Given the description of an element on the screen output the (x, y) to click on. 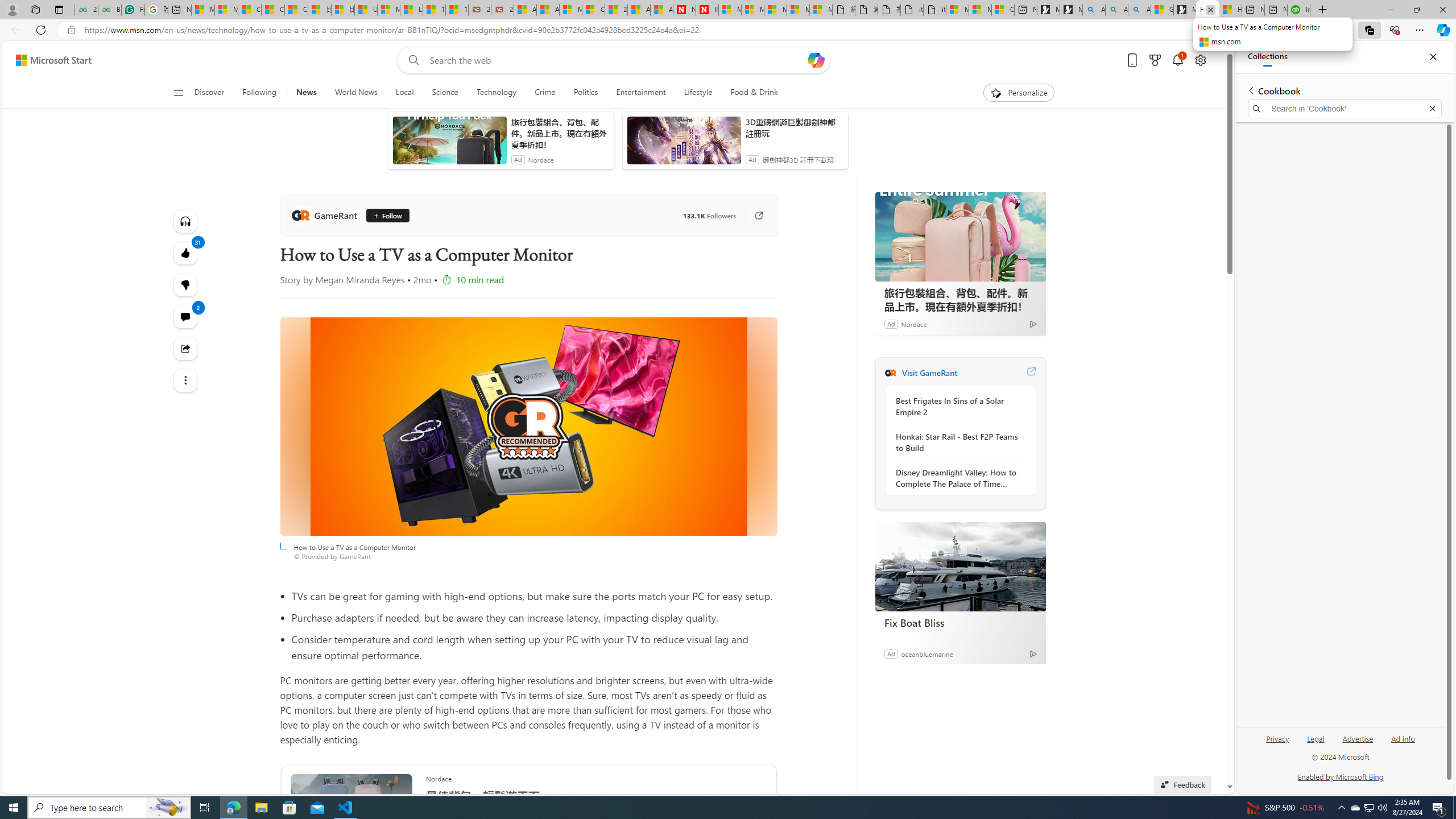
Cloud Computing Services | Microsoft Azure (593, 9)
USA TODAY - MSN (365, 9)
31 (184, 284)
Lifestyle (698, 92)
Skip to footer (46, 59)
Intuit QuickBooks Online - Quickbooks (1298, 9)
Fix Boat Bliss (959, 622)
GameRant (326, 215)
